Given the description of an element on the screen output the (x, y) to click on. 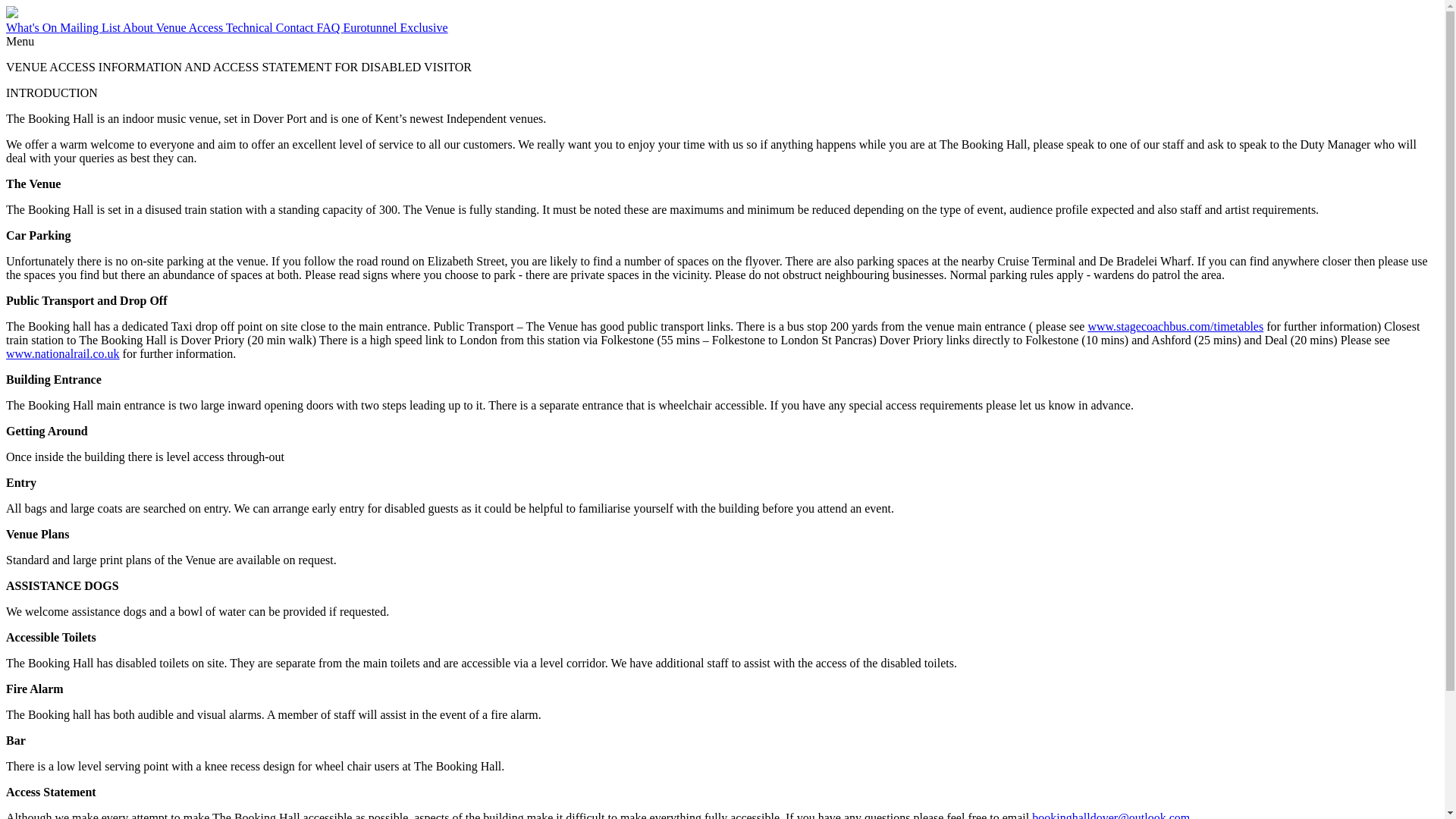
Technical (250, 27)
FAQ (330, 27)
Contact (296, 27)
Venue Access (190, 27)
About (138, 27)
The Booking Hall, Dover (11, 13)
What's On (32, 27)
Contact (296, 27)
Technical (250, 27)
What's On (32, 27)
Menu (19, 41)
About (138, 27)
Mailing List (90, 27)
FAQ (330, 27)
Eurotunnel Exclusive (394, 27)
